Given the description of an element on the screen output the (x, y) to click on. 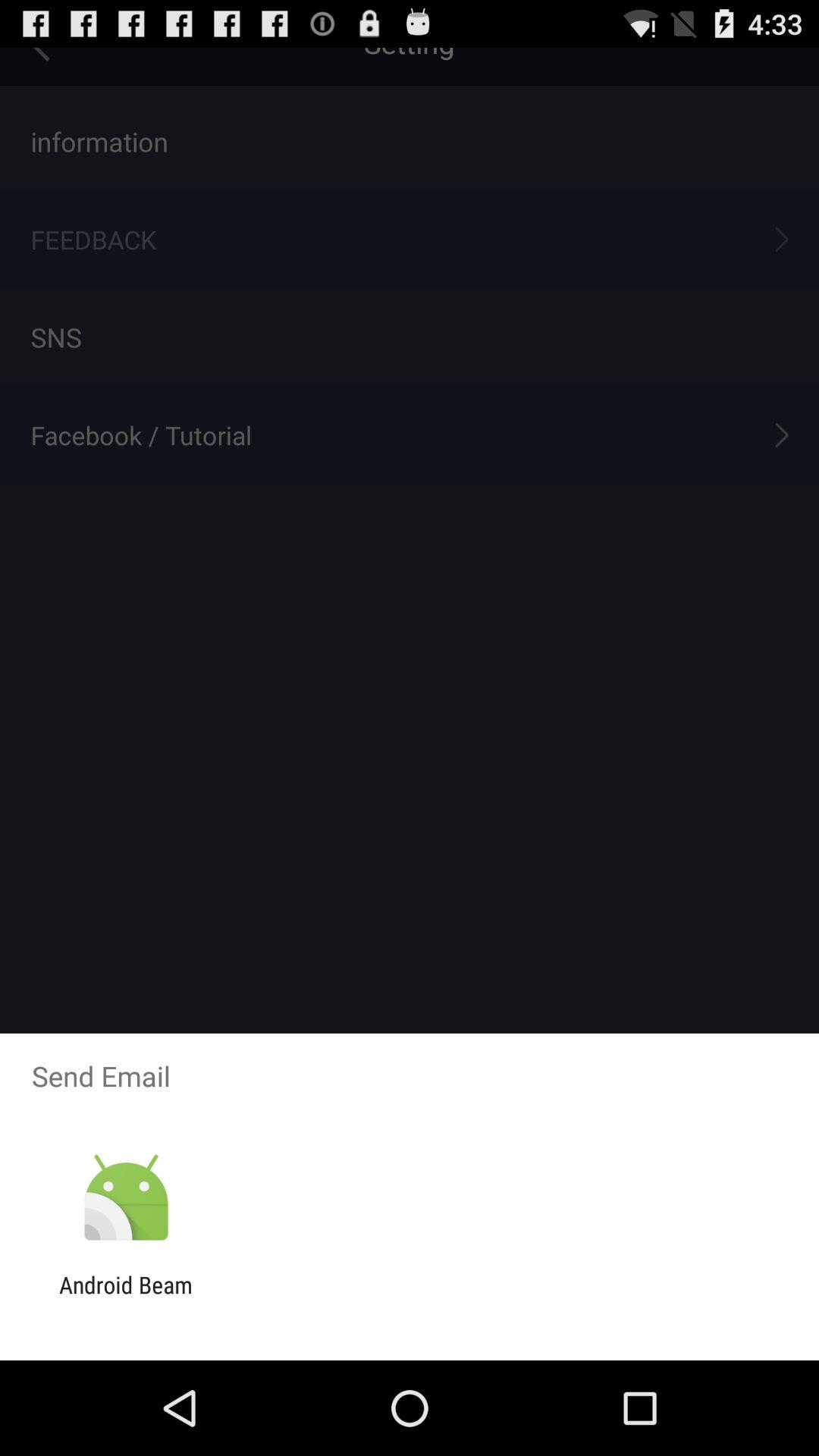
turn on the icon below the send email (126, 1198)
